Given the description of an element on the screen output the (x, y) to click on. 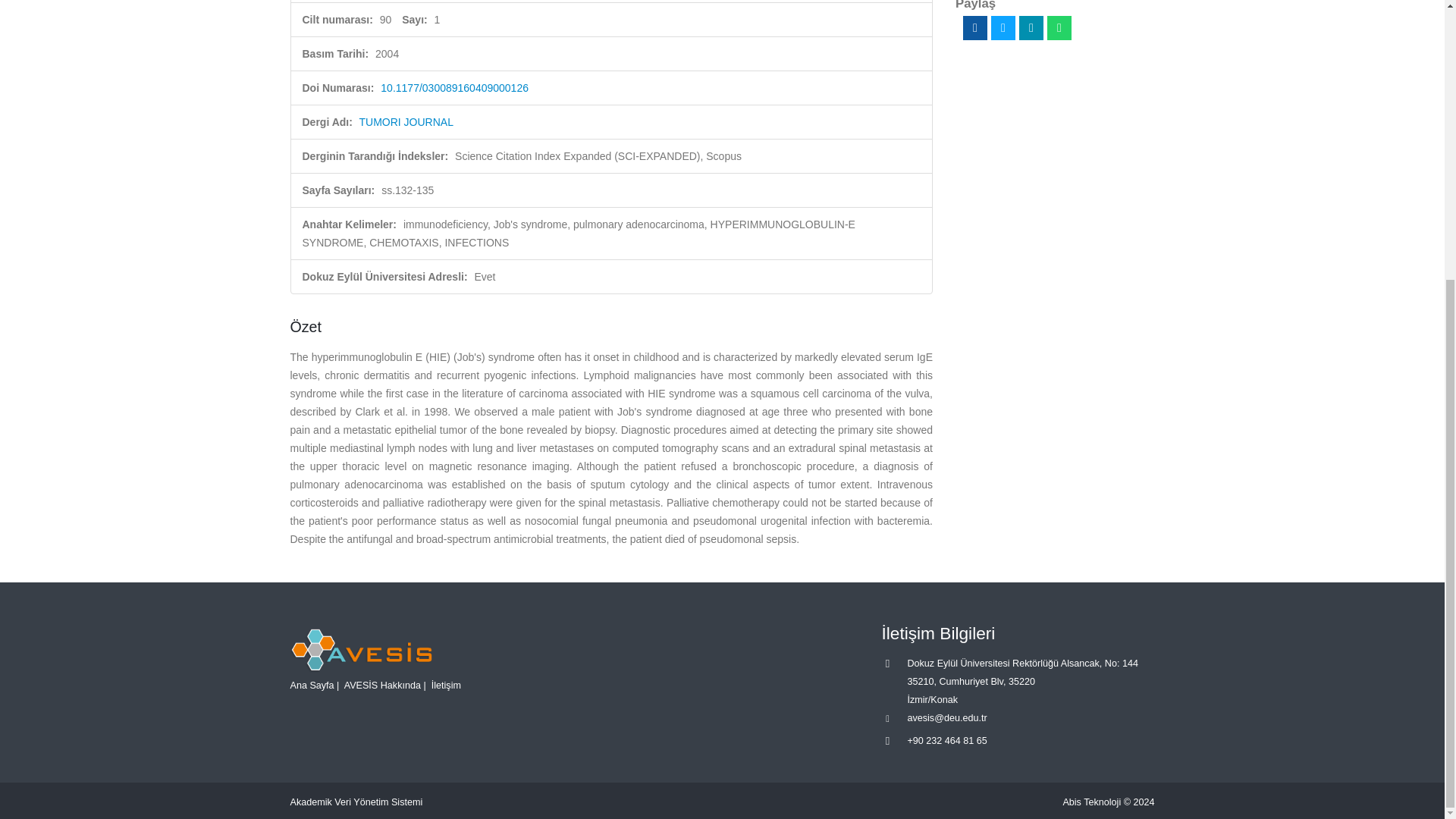
TUMORI JOURNAL (405, 121)
Ana Sayfa (311, 684)
Abis Teknoloji (1091, 801)
